Given the description of an element on the screen output the (x, y) to click on. 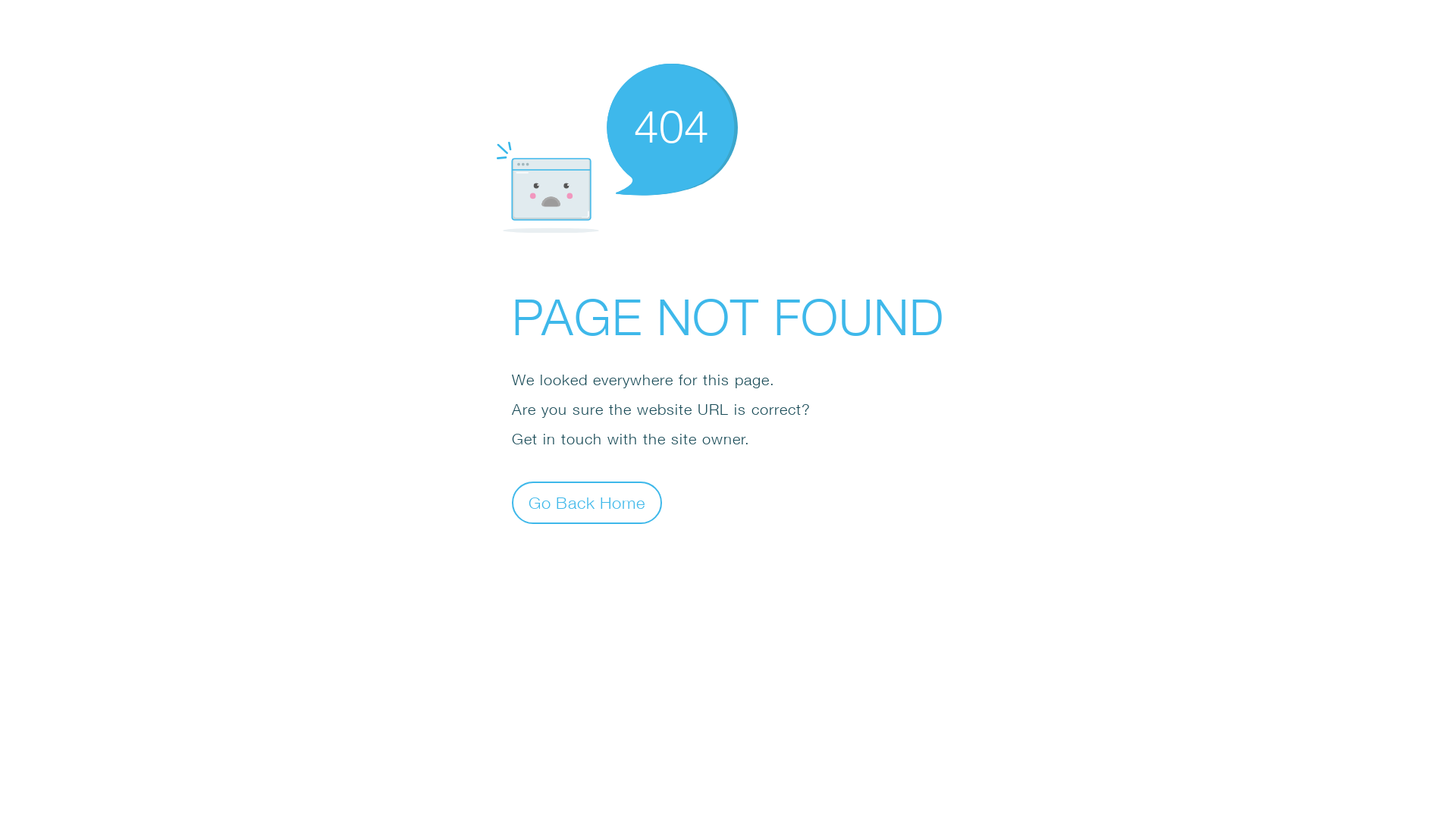
Go Back Home Element type: text (586, 502)
